Given the description of an element on the screen output the (x, y) to click on. 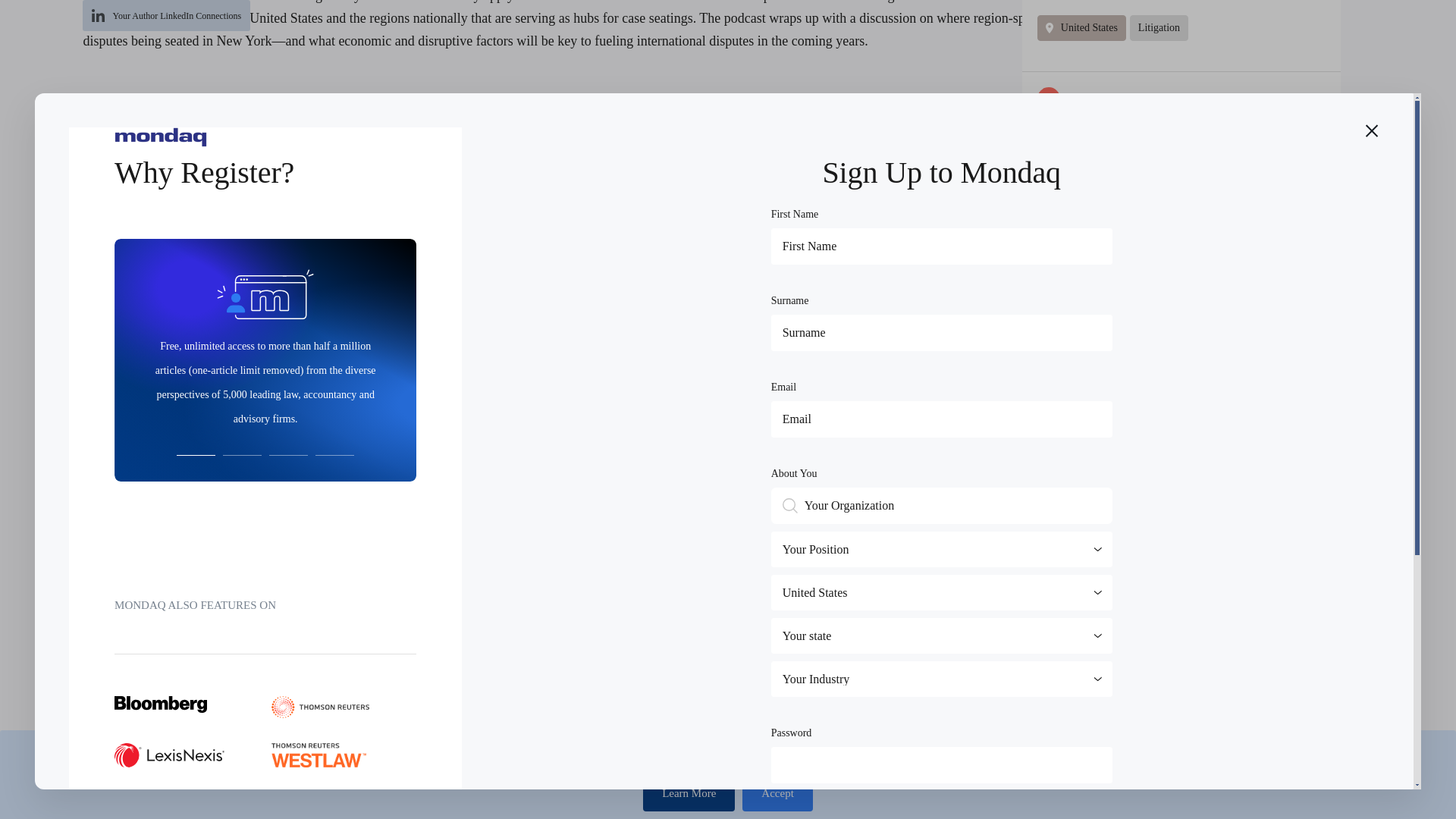
true (777, 113)
true (777, 31)
true (777, 164)
false (828, 31)
false (828, 113)
